Given the description of an element on the screen output the (x, y) to click on. 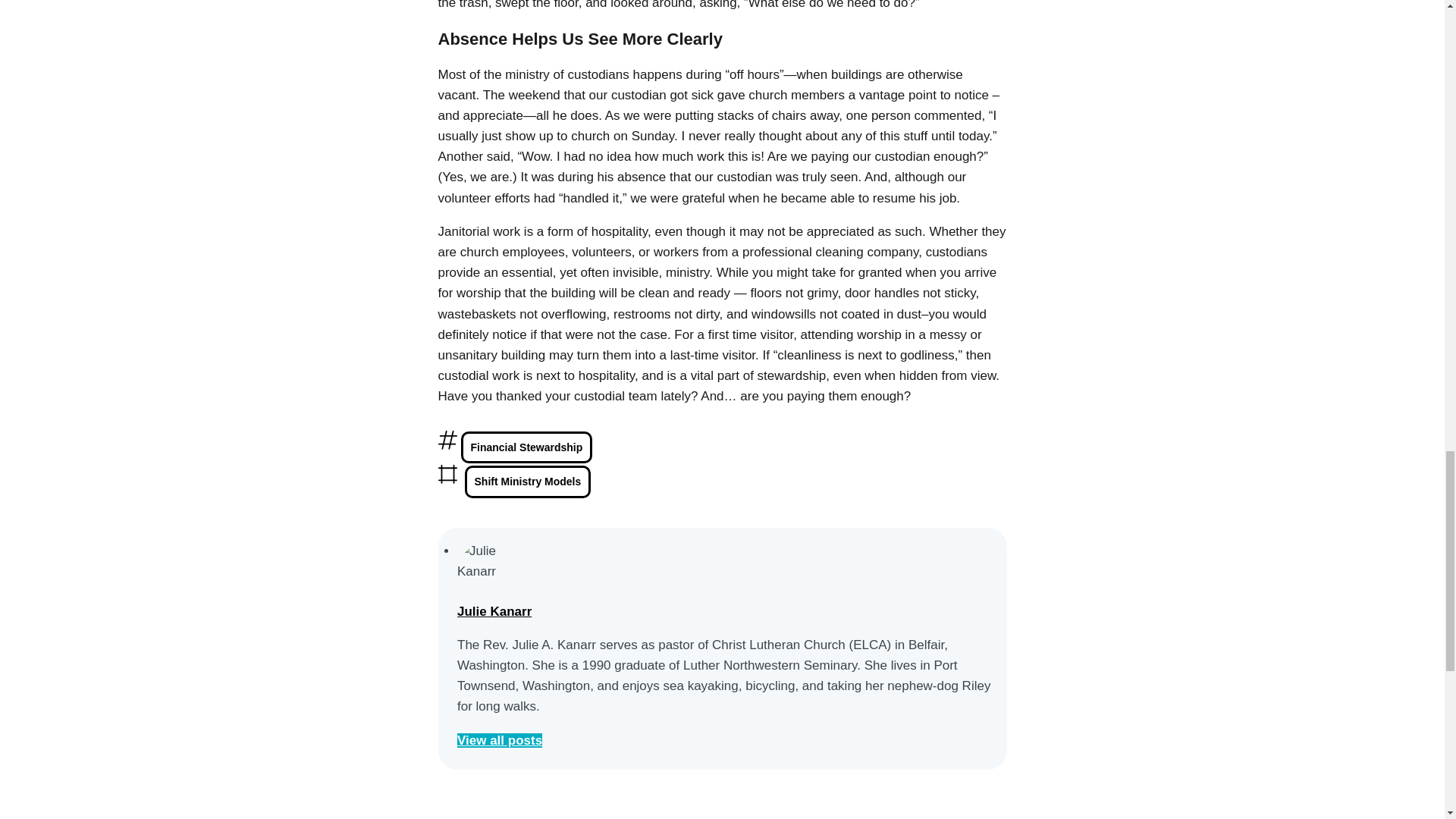
View all posts (499, 740)
Julie Kanarr (494, 611)
